Given the description of an element on the screen output the (x, y) to click on. 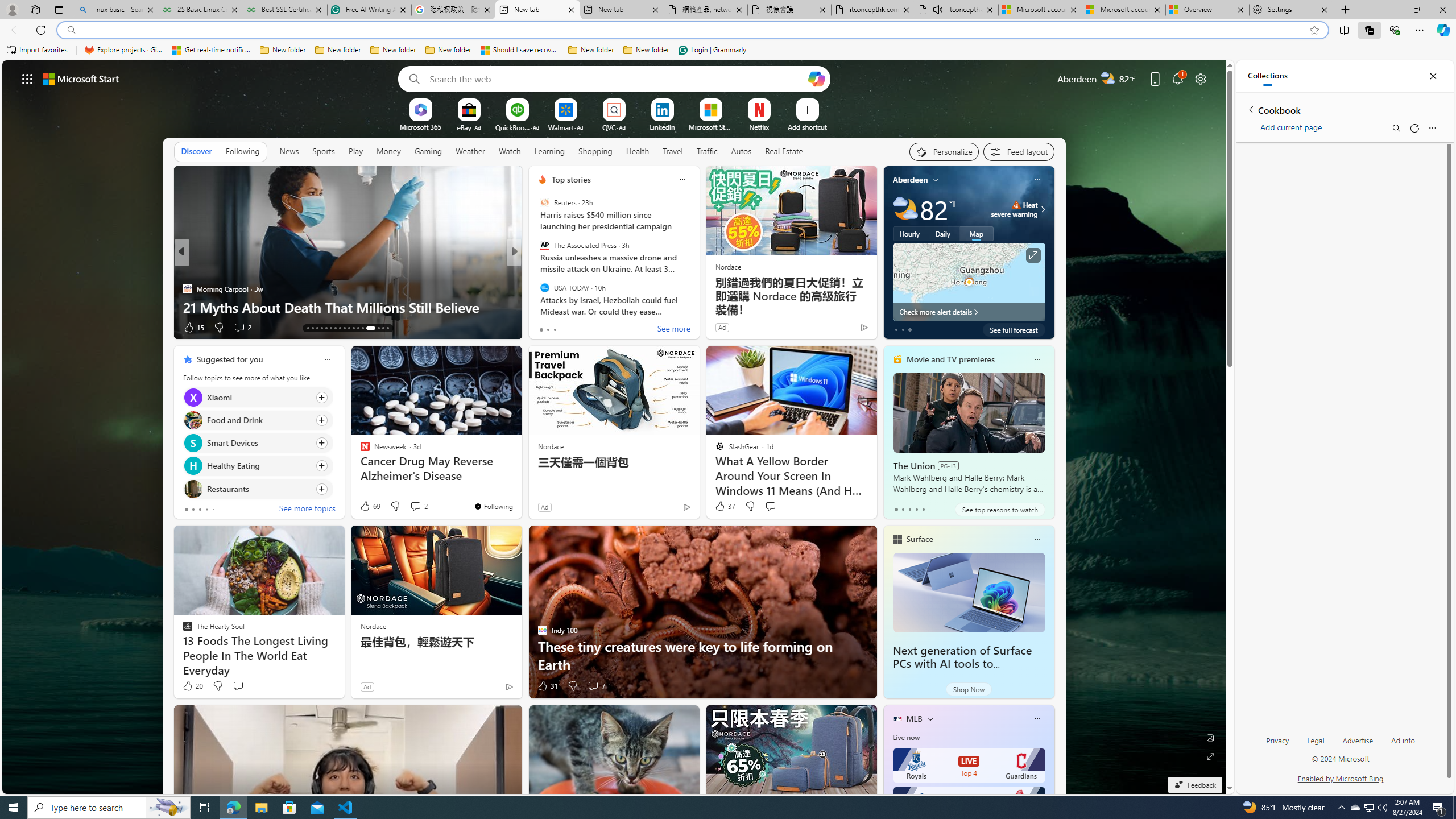
Click to follow topic Restaurants (257, 488)
Top stories (571, 179)
AutomationID: tab-26 (366, 328)
Click to follow topic Food and Drink (257, 419)
Real Estate (783, 151)
Watch (509, 151)
My location (936, 179)
219 Like (545, 327)
